Given the description of an element on the screen output the (x, y) to click on. 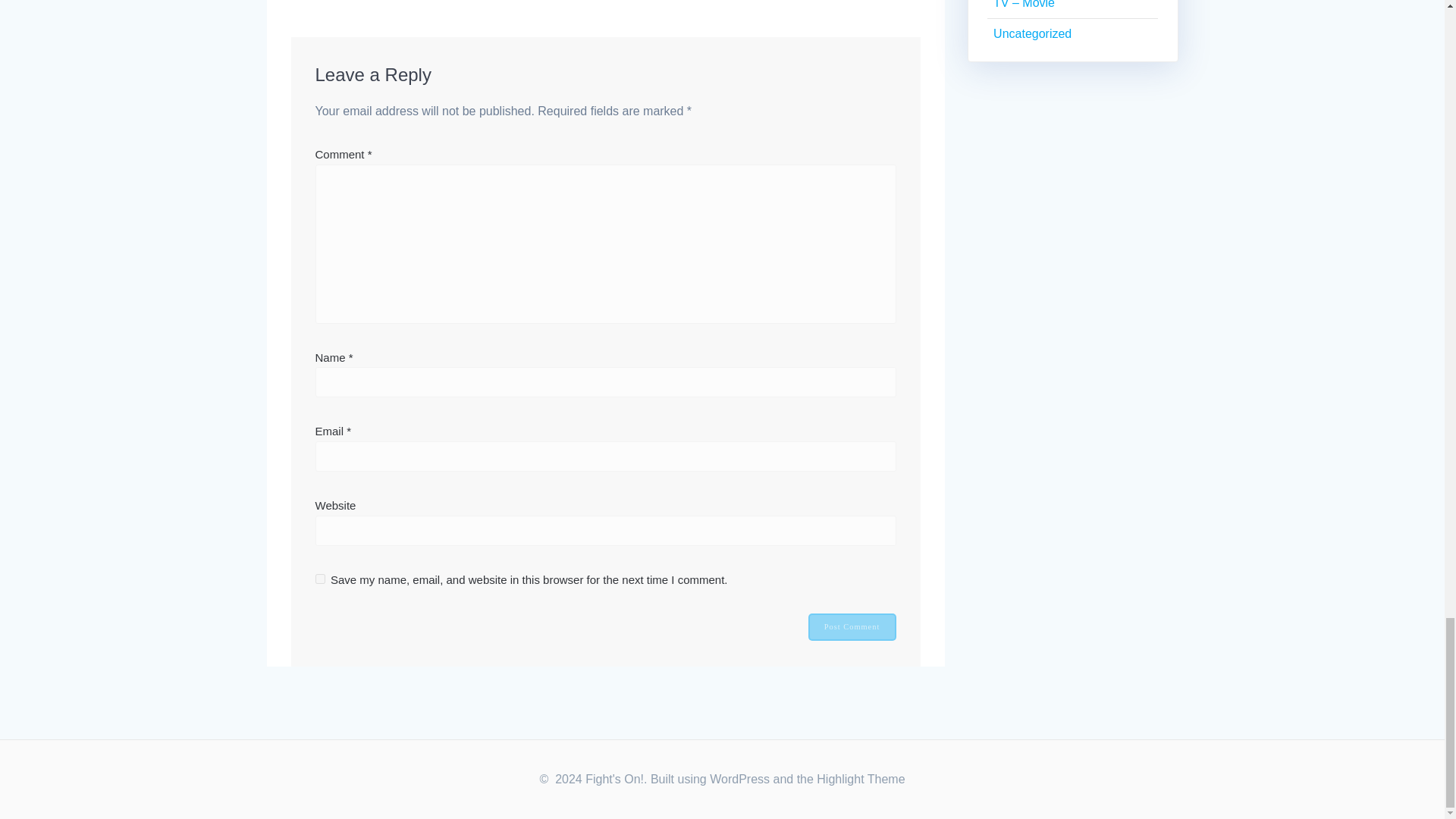
Post Comment (852, 626)
yes (319, 578)
Post Comment (852, 626)
